Given the description of an element on the screen output the (x, y) to click on. 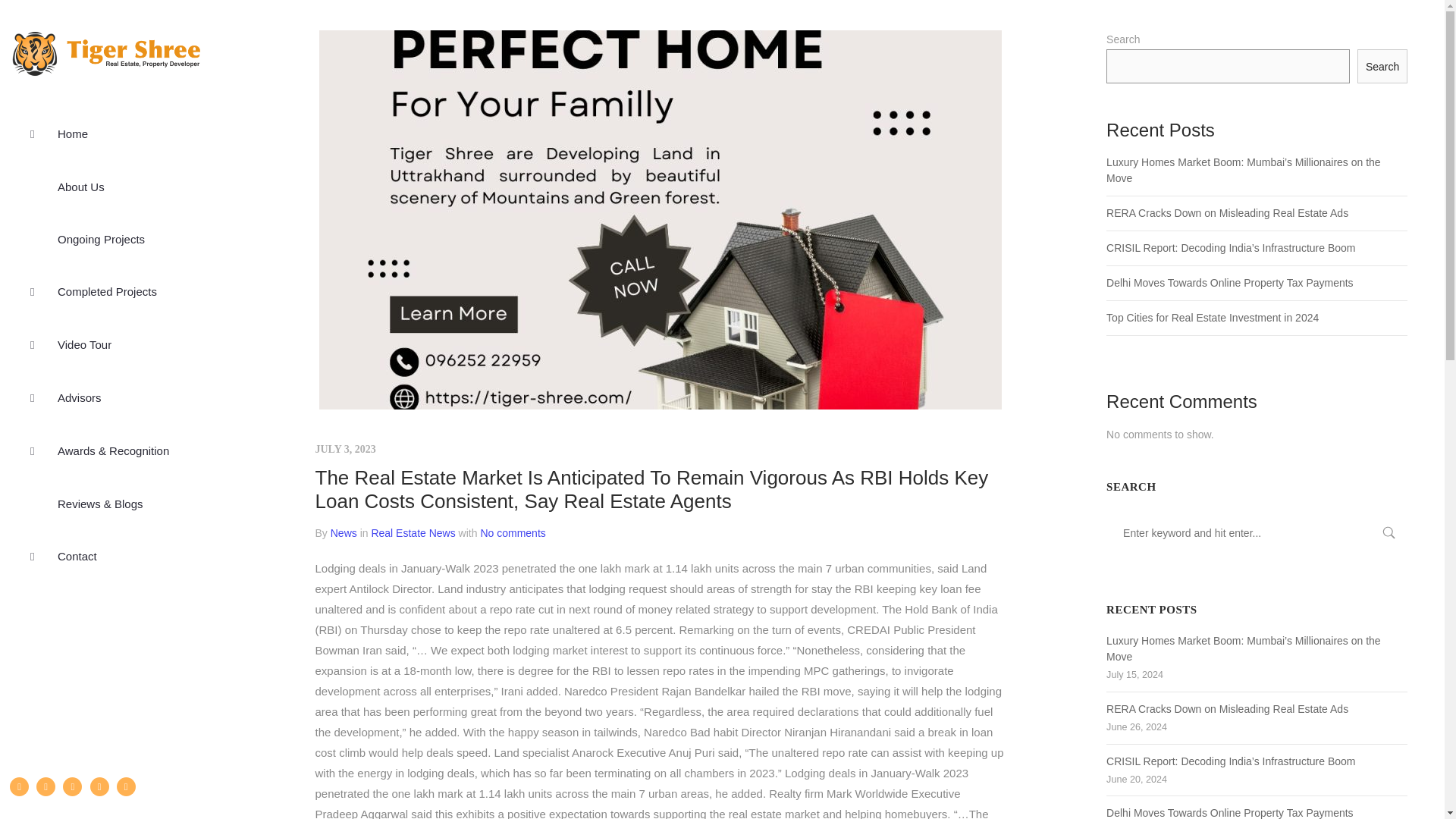
Video Tour (106, 344)
Real Estate News (412, 532)
No comments (512, 532)
Home (106, 133)
About Us (106, 186)
Twitter (45, 786)
LinkedIn (99, 786)
Contact (106, 555)
News (343, 532)
Completed Projects (106, 291)
Email (125, 786)
Ongoing Projects (106, 238)
Facebook (19, 786)
Advisors (106, 398)
Instagram (71, 786)
